Given the description of an element on the screen output the (x, y) to click on. 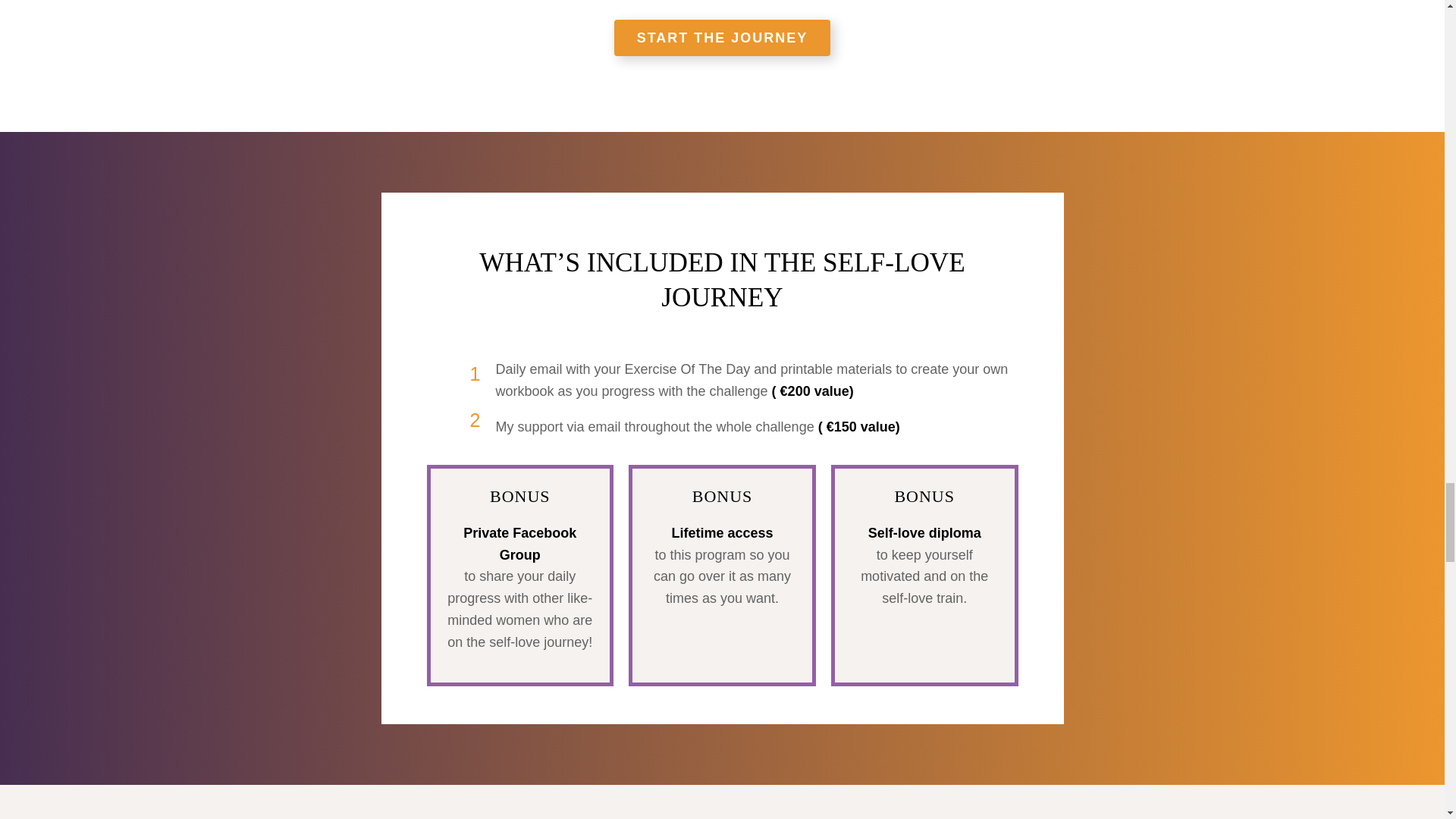
START THE JOURNEY (722, 37)
